Given the description of an element on the screen output the (x, y) to click on. 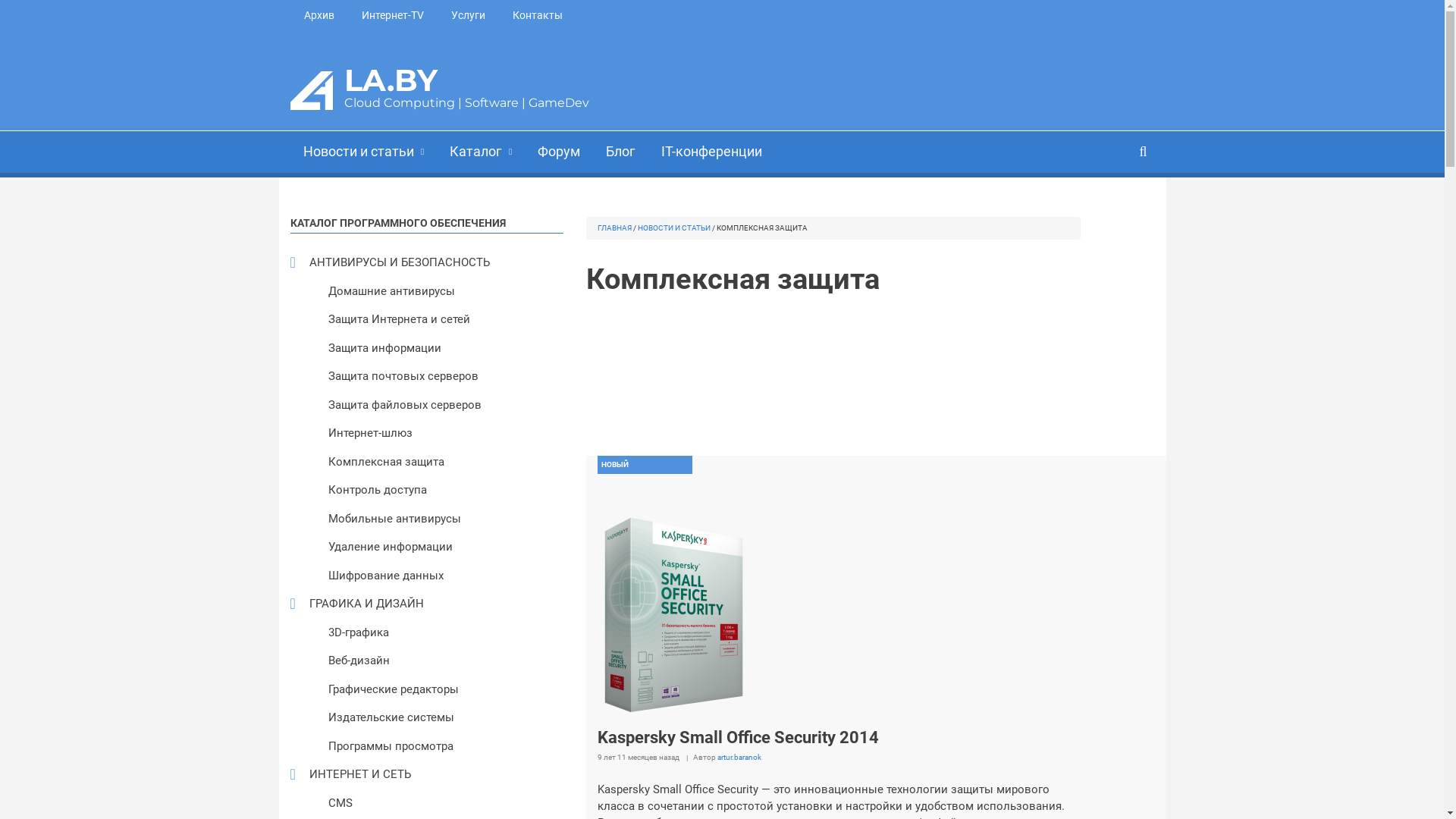
artur.baranok Element type: text (739, 757)
Kaspersky Small Office Security 2014 Element type: hover (673, 614)
Kaspersky Small Office Security 2014 Element type: text (737, 737)
LA.BY Element type: text (390, 79)
Advertisement Element type: hover (832, 374)
CMS Element type: text (436, 803)
